Given the description of an element on the screen output the (x, y) to click on. 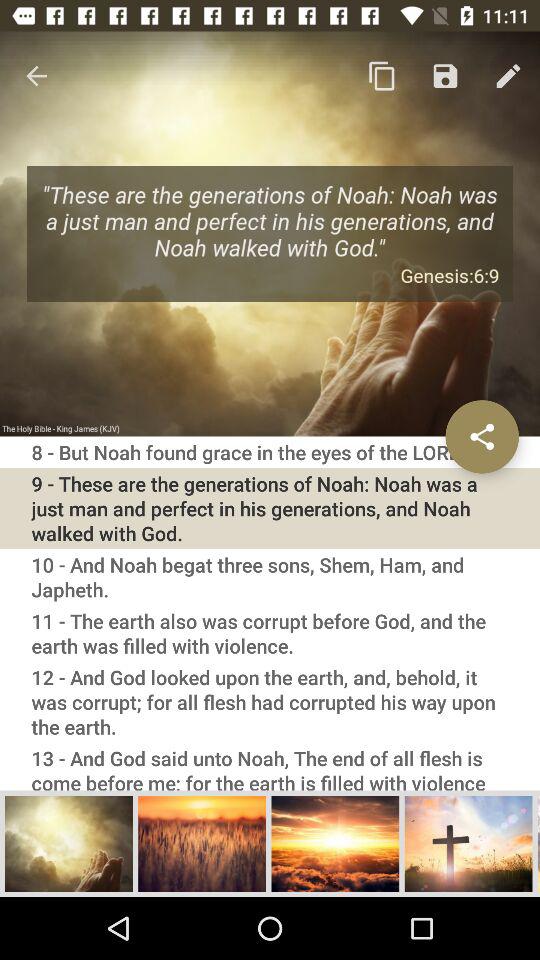
click (468, 843)
